Given the description of an element on the screen output the (x, y) to click on. 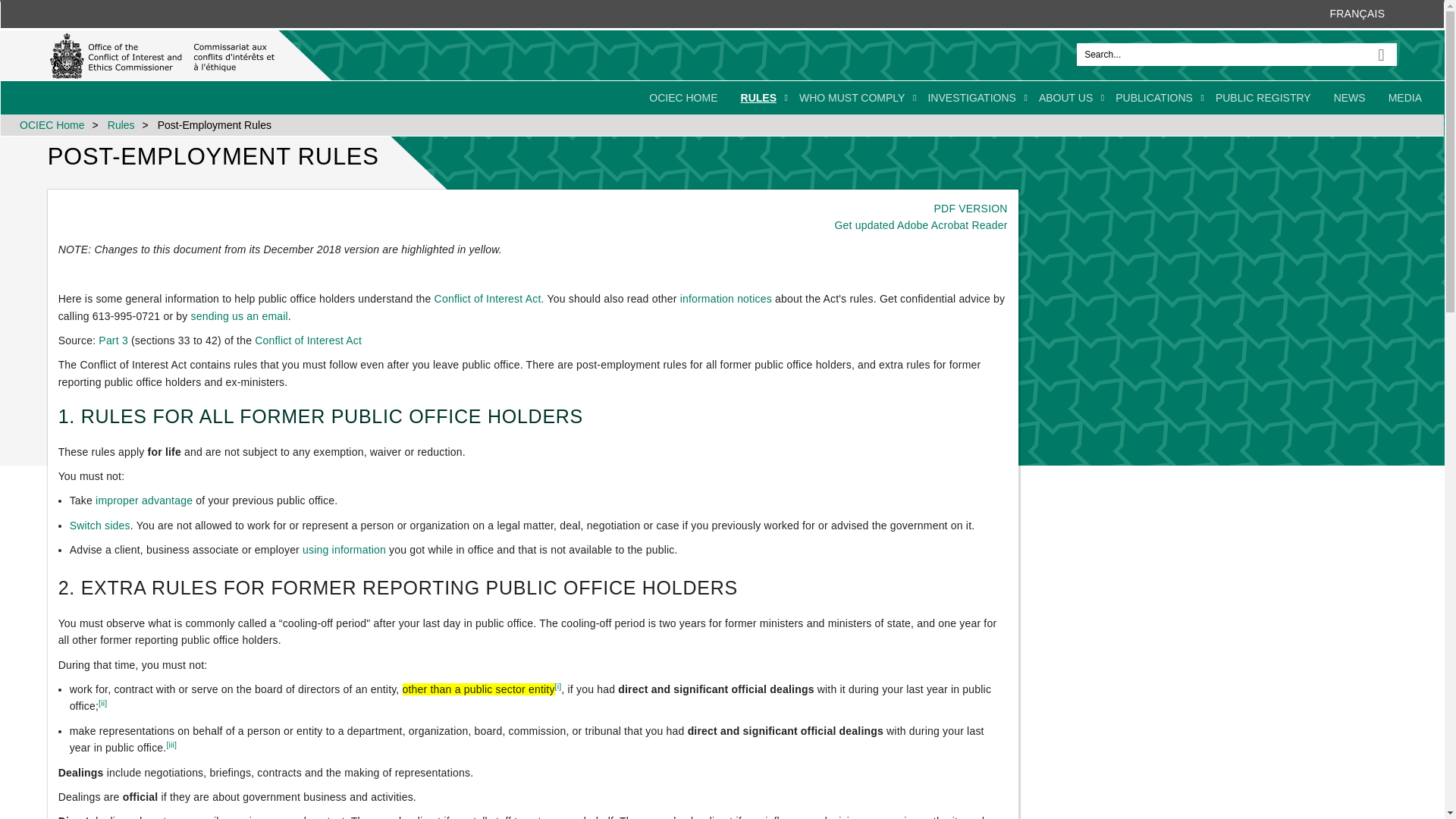
Search (1385, 50)
Rules (162, 55)
INVESTIGATIONS (970, 97)
Search... (1236, 54)
Search... (1236, 54)
WHO MUST COMPLY (852, 97)
OCIEC HOME (683, 97)
RULES (758, 97)
